Given the description of an element on the screen output the (x, y) to click on. 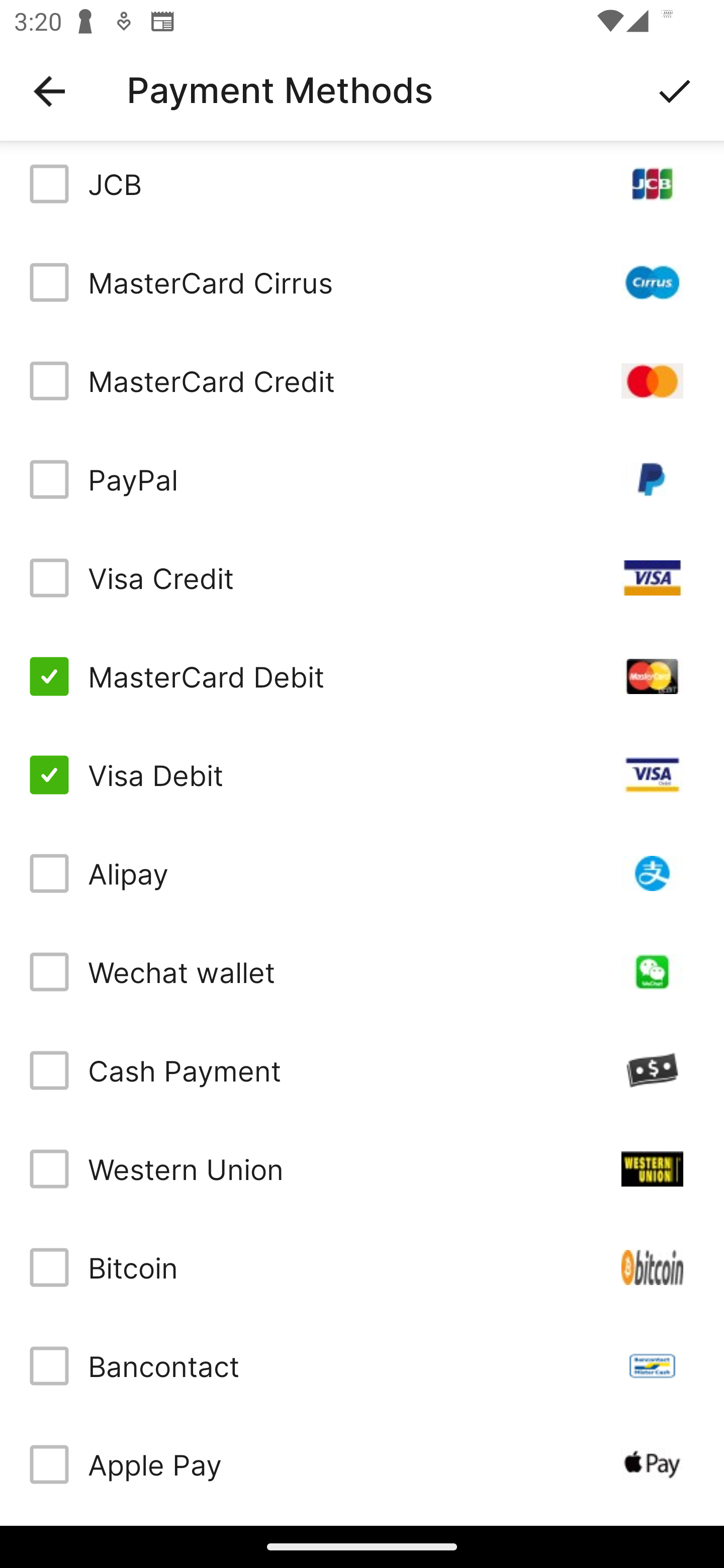
JCB (362, 187)
MasterCard Cirrus (362, 282)
MasterCard Credit (362, 380)
PayPal (362, 478)
Visa Credit (362, 577)
MasterCard Debit (362, 676)
Visa Debit (362, 774)
Alipay (362, 872)
Wechat wallet (362, 970)
Cash Payment (362, 1069)
Western Union (362, 1168)
Bitcoin (362, 1267)
Bancontact (362, 1366)
Apple Pay (362, 1464)
